Given the description of an element on the screen output the (x, y) to click on. 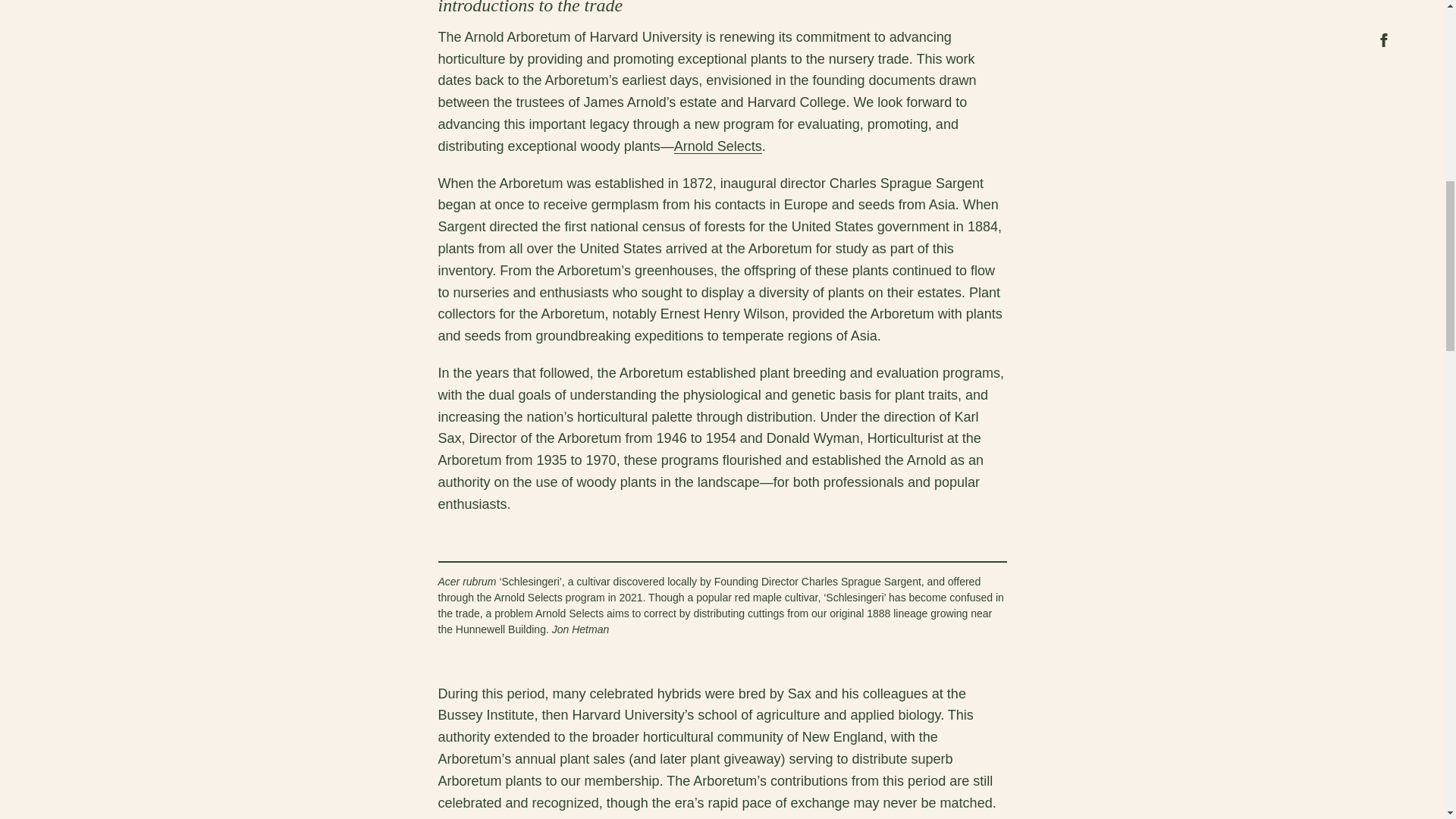
Arnold Selects (717, 145)
